Given the description of an element on the screen output the (x, y) to click on. 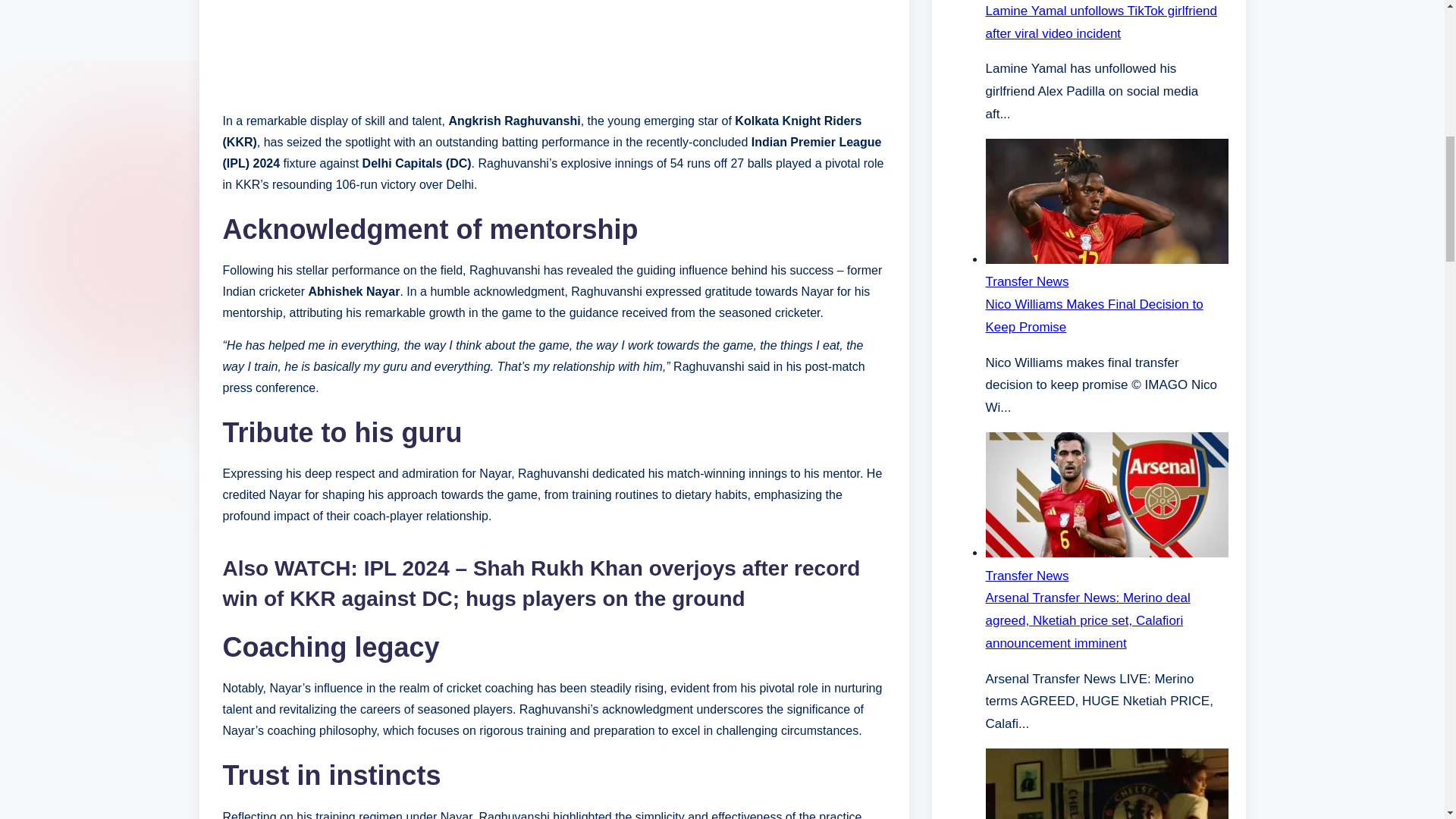
Advertisement (553, 49)
